Given the description of an element on the screen output the (x, y) to click on. 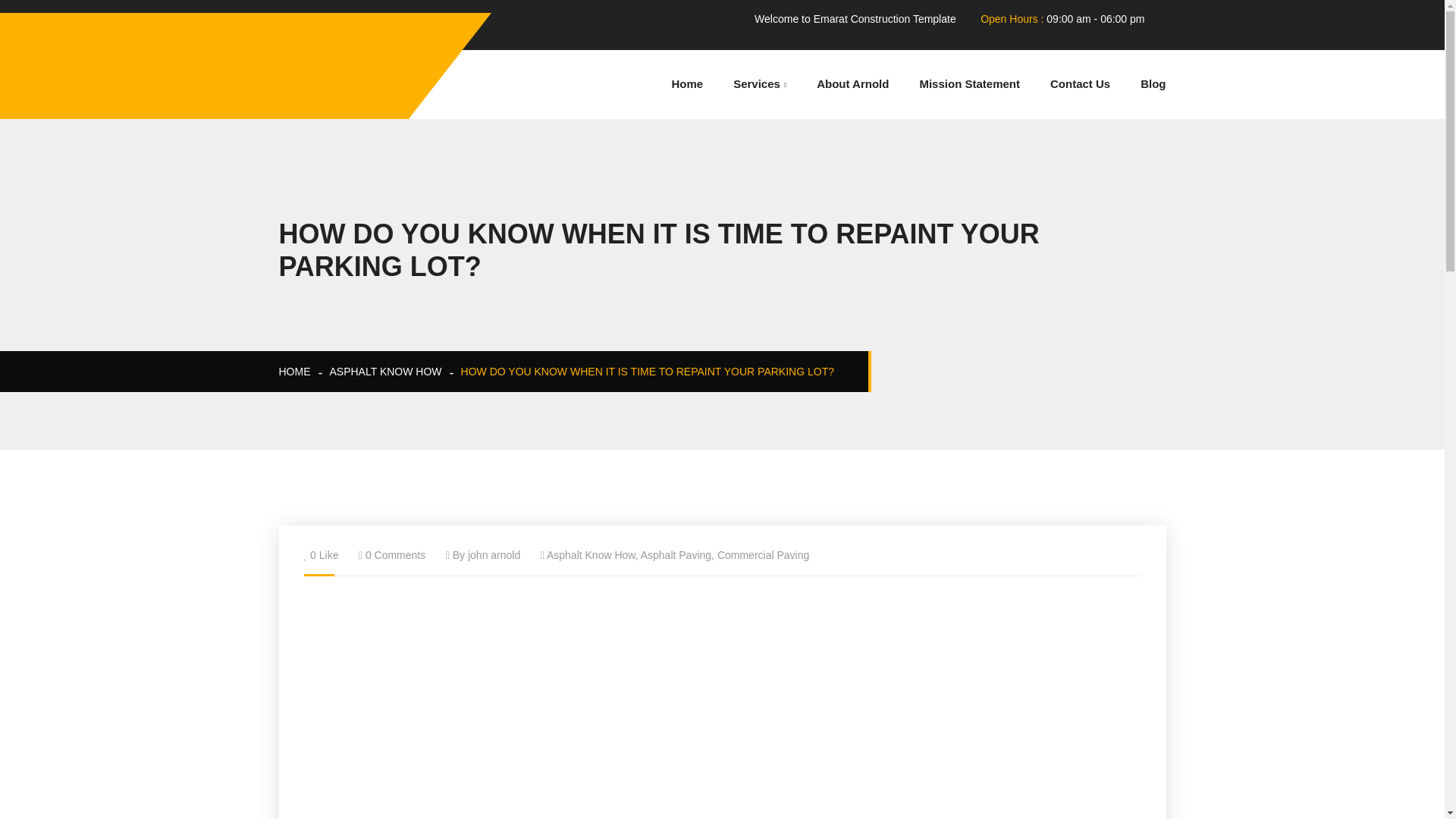
0 Like (323, 554)
ASPHALT KNOW HOW (385, 371)
HOME (295, 371)
Asphalt Know How (590, 554)
About Arnold (852, 83)
Asphalt Paving (675, 554)
Mission Statement (969, 83)
Commercial Paving (763, 554)
